Given the description of an element on the screen output the (x, y) to click on. 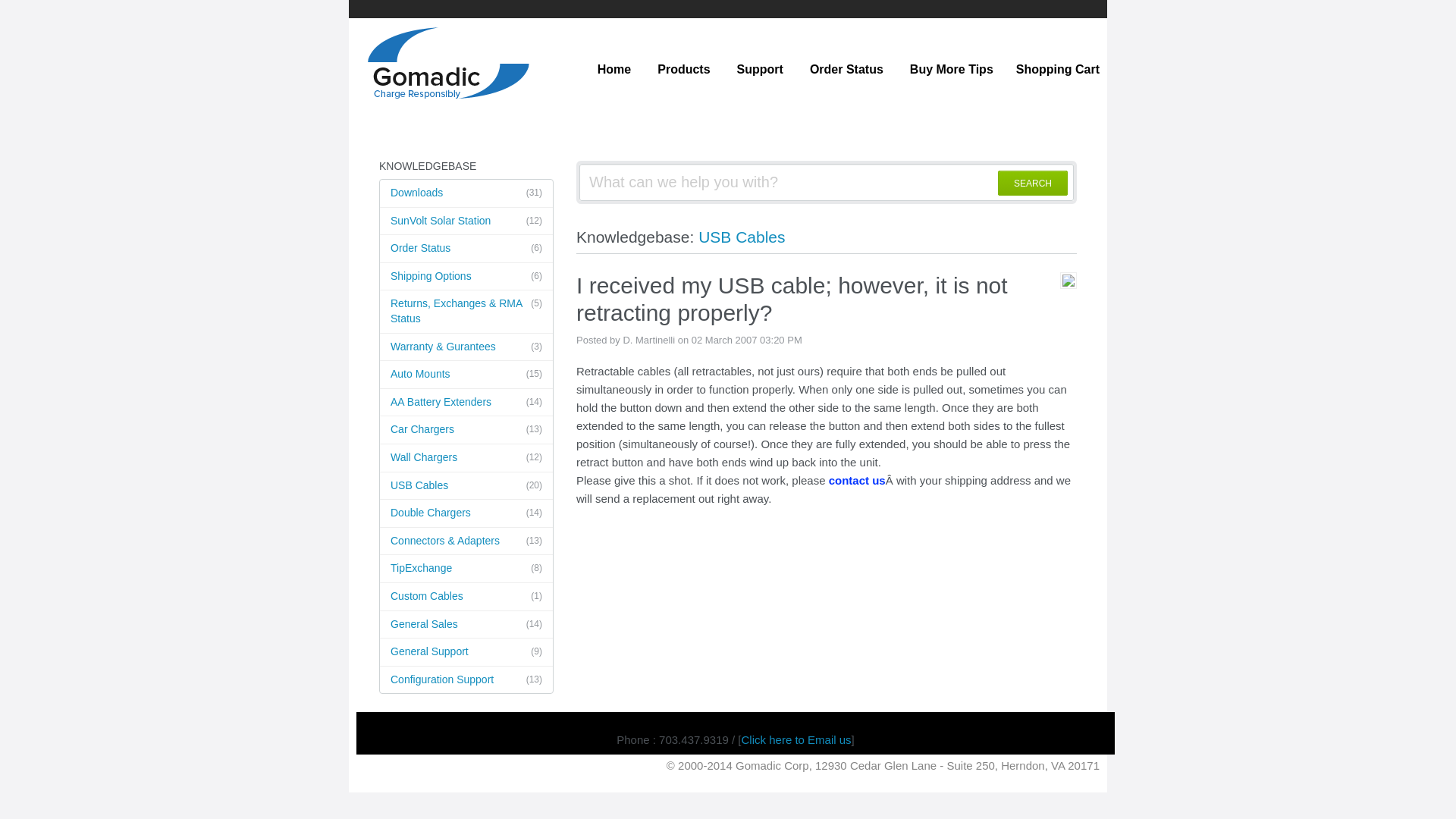
Shopping Cart (1057, 69)
Click here to Email us (796, 739)
Order Status (846, 69)
Support (759, 69)
Home (614, 69)
SEARCH (1032, 182)
USB Cables (741, 236)
contact us (856, 480)
What can we help you with? (826, 181)
What can we help you with? (826, 181)
